Given the description of an element on the screen output the (x, y) to click on. 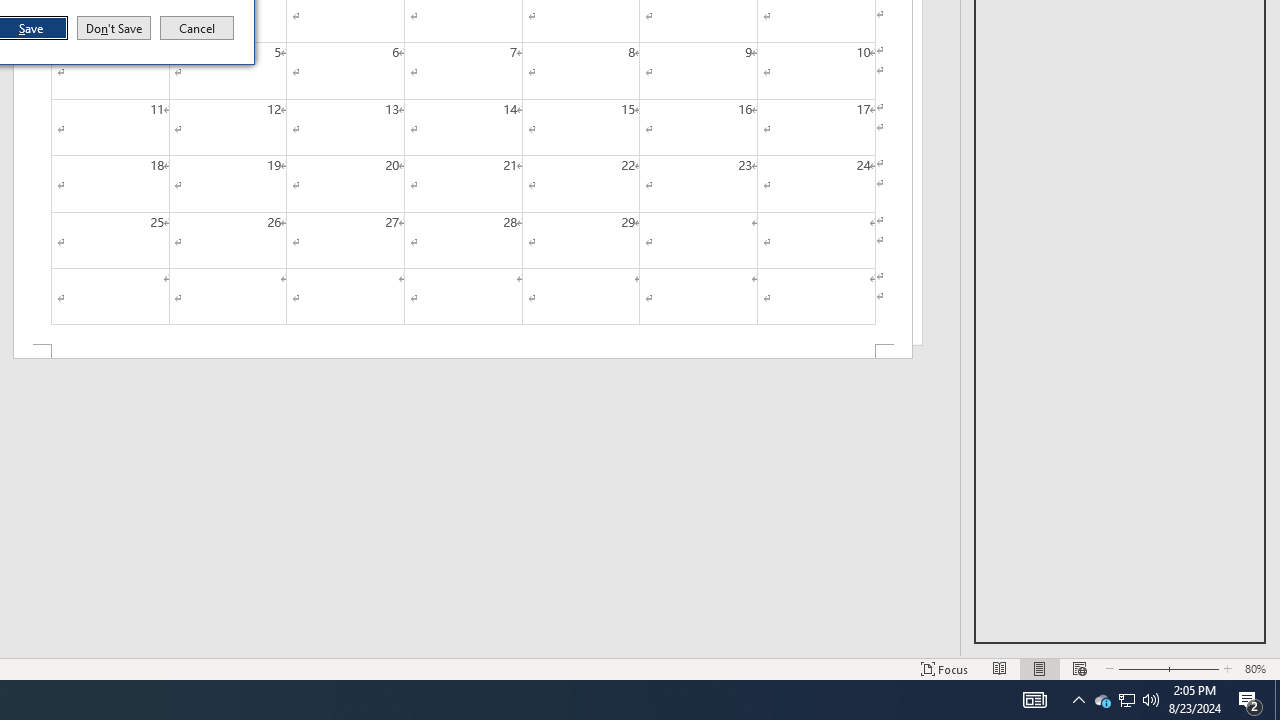
Show desktop (1277, 699)
Action Center, 2 new notifications (1250, 699)
AutomationID: 4105 (1034, 699)
Q2790: 100% (1102, 699)
User Promoted Notification Area (1151, 699)
Notification Chevron (1126, 699)
Footer -Section 2- (1078, 699)
